Given the description of an element on the screen output the (x, y) to click on. 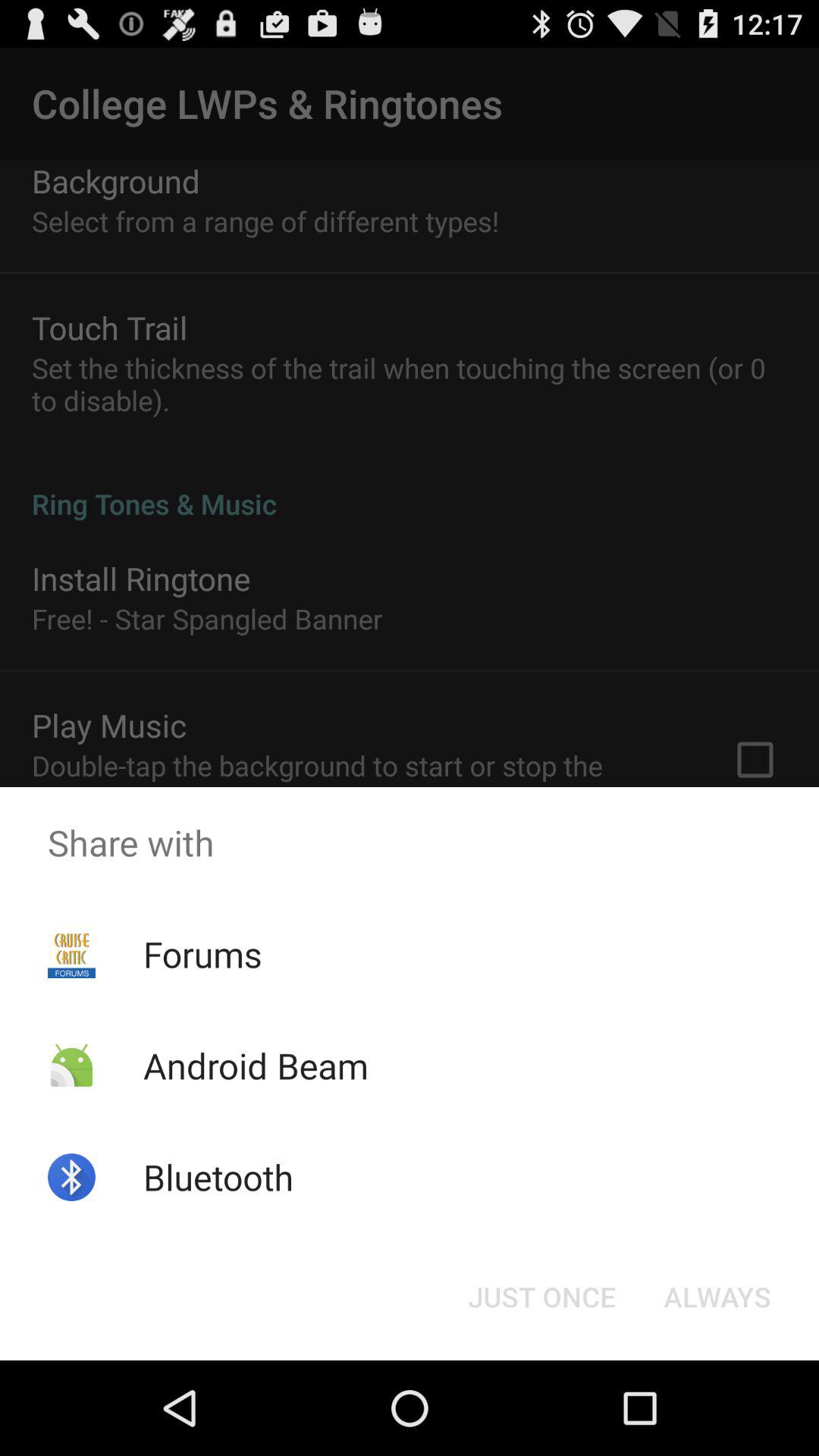
select the just once icon (541, 1296)
